Given the description of an element on the screen output the (x, y) to click on. 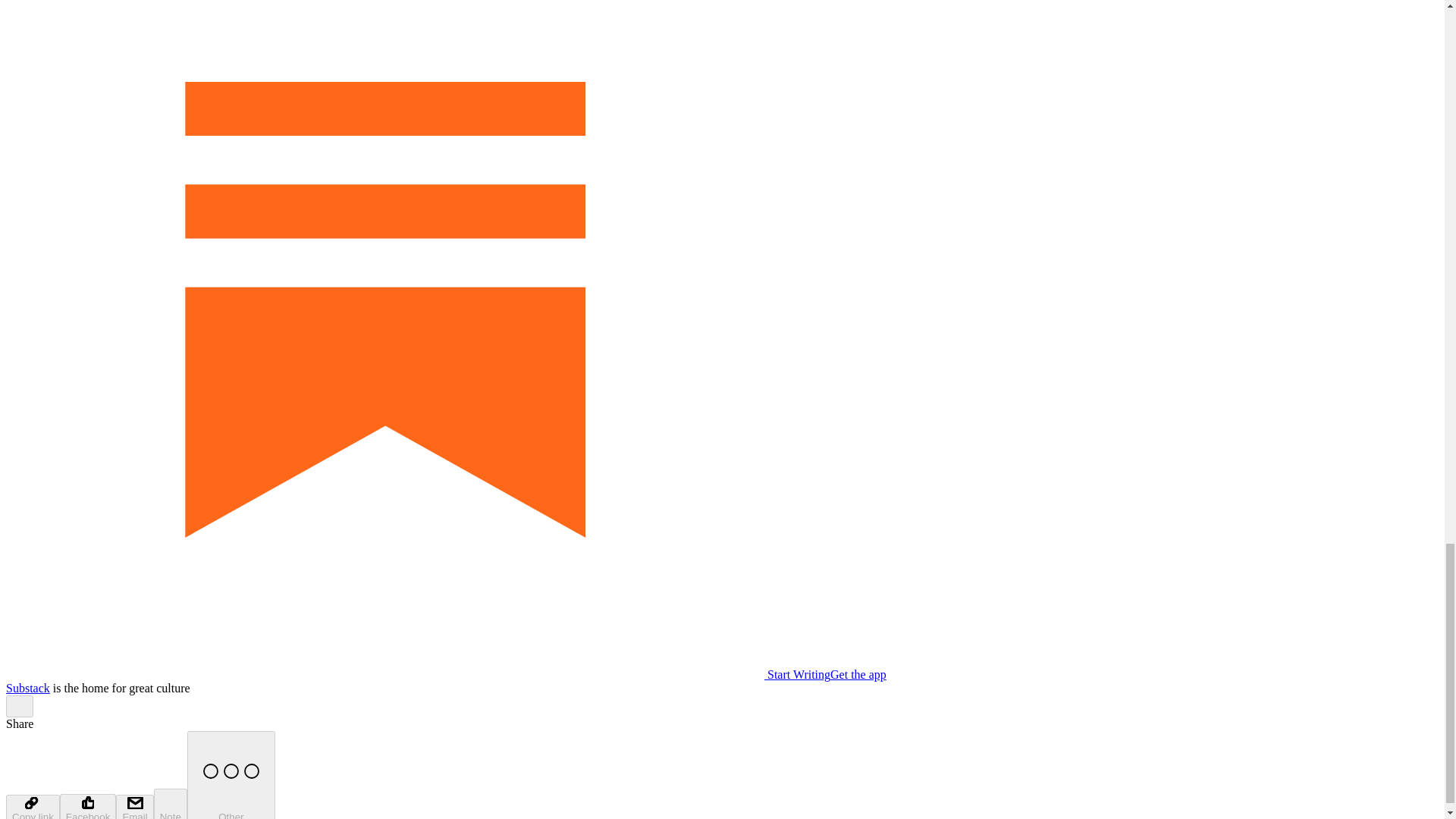
Start Writing (417, 674)
Get the app (857, 674)
Substack (27, 687)
